Given the description of an element on the screen output the (x, y) to click on. 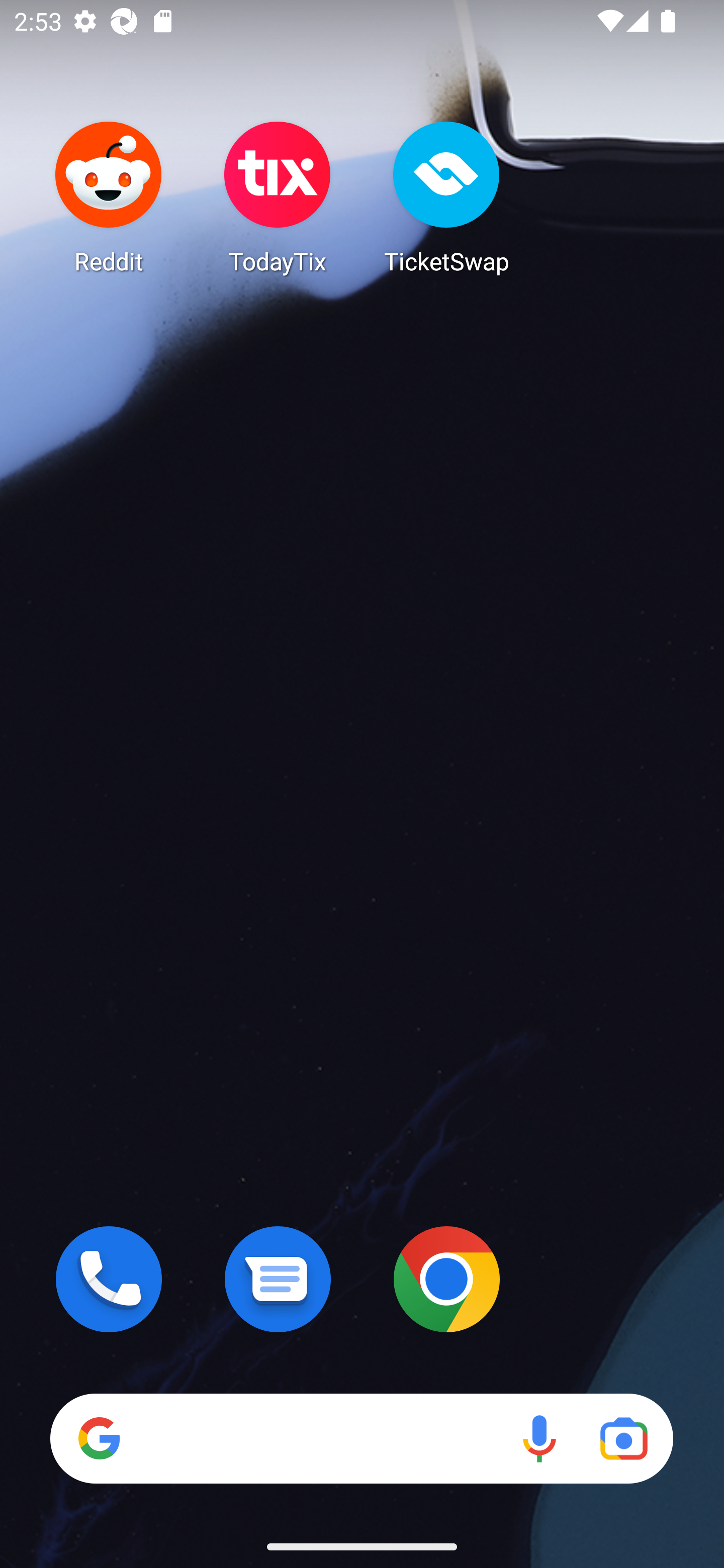
Reddit (108, 196)
TodayTix (277, 196)
TicketSwap (445, 196)
Phone (108, 1279)
Messages (277, 1279)
Chrome (446, 1279)
Voice search (539, 1438)
Google Lens (623, 1438)
